Given the description of an element on the screen output the (x, y) to click on. 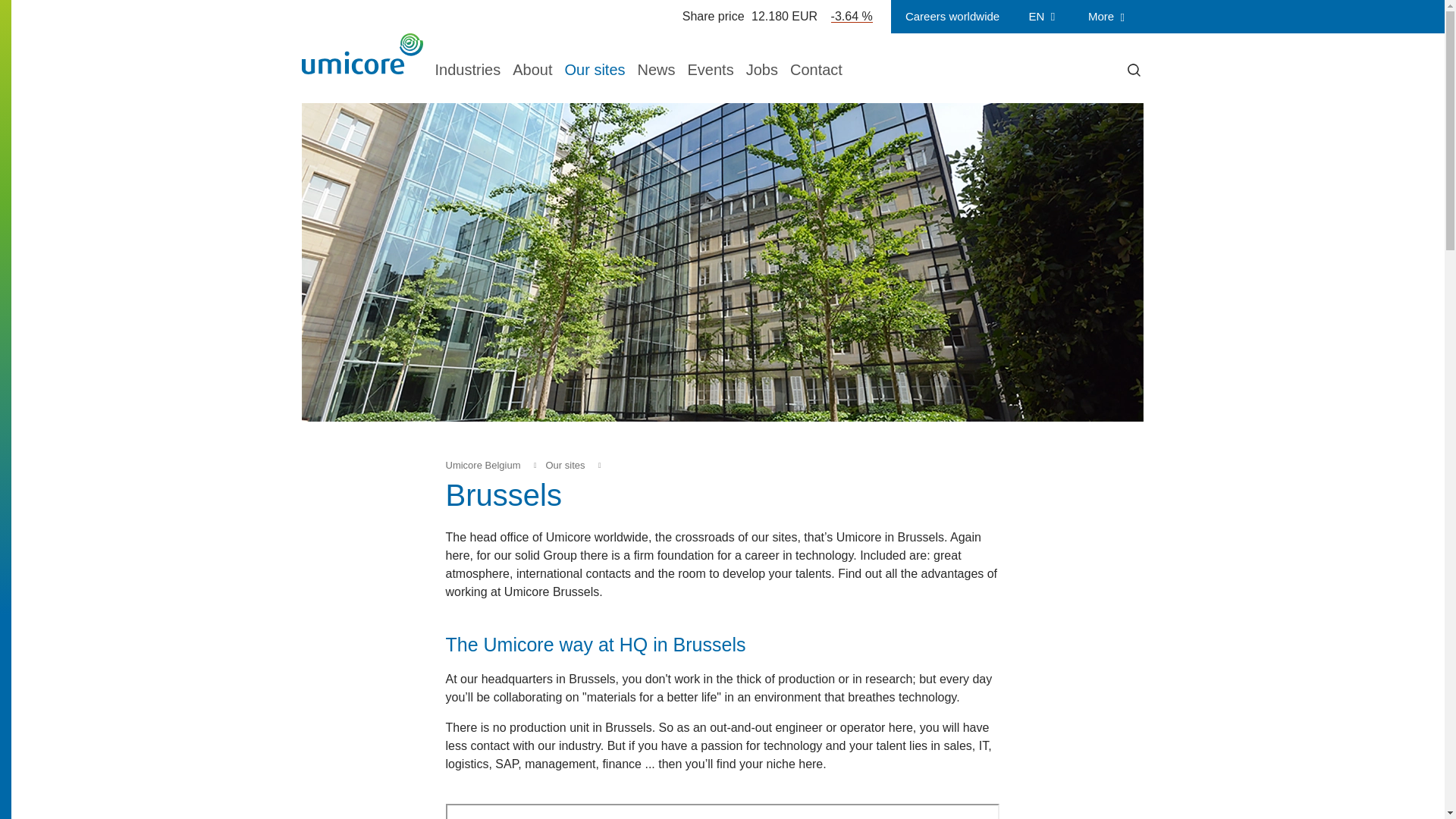
News (656, 67)
EN (1043, 16)
Industries (467, 67)
Events (710, 67)
Careers worldwide (952, 16)
About (531, 67)
Our sites (594, 67)
More (1108, 16)
Umicore Belgium (483, 464)
Our sites (564, 464)
